Given the description of an element on the screen output the (x, y) to click on. 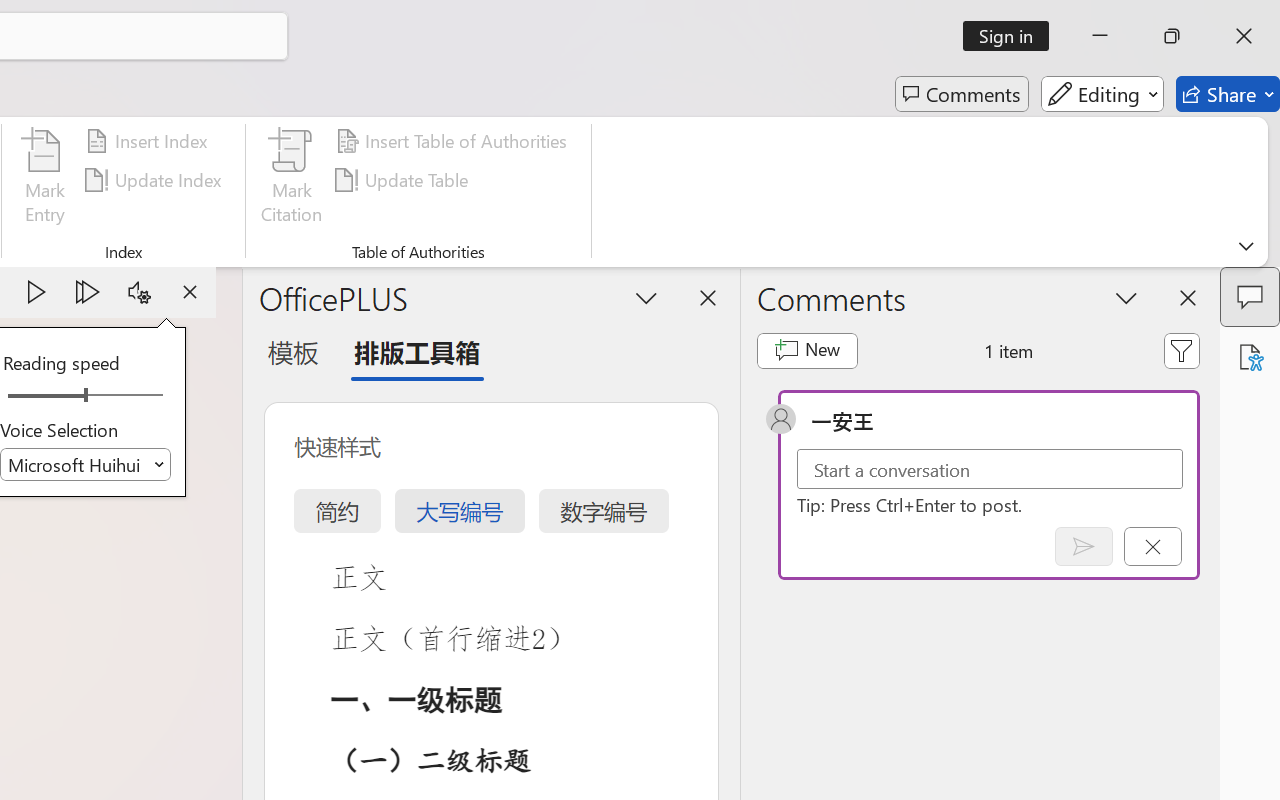
Settings (139, 292)
Next Paragraph (87, 292)
Stop (190, 292)
Start a conversation (990, 468)
Page right (129, 395)
Filter (1181, 350)
Editing (1101, 94)
Mark Entry... (44, 179)
Cancel (1152, 546)
Accessibility Assistant (1249, 357)
